Given the description of an element on the screen output the (x, y) to click on. 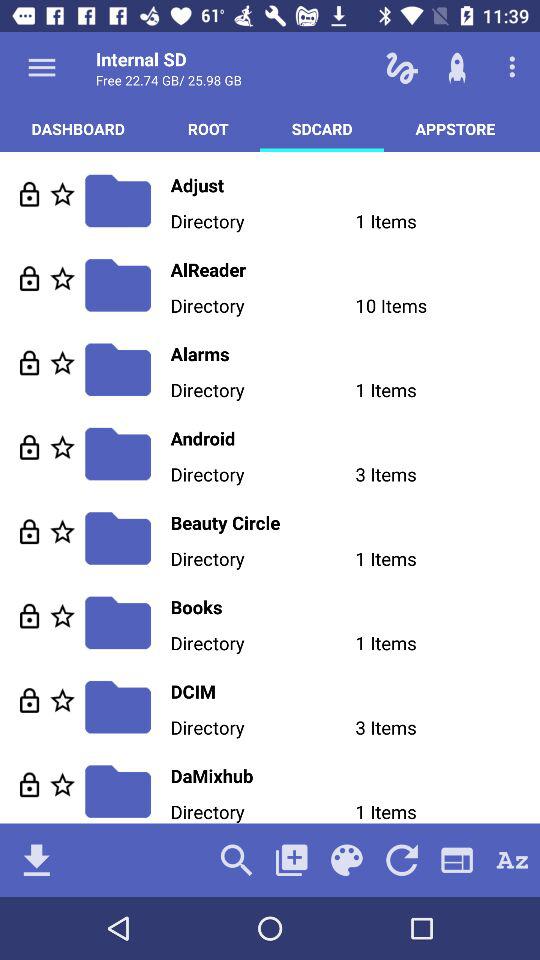
turn off the icon to the left of root icon (78, 128)
